Given the description of an element on the screen output the (x, y) to click on. 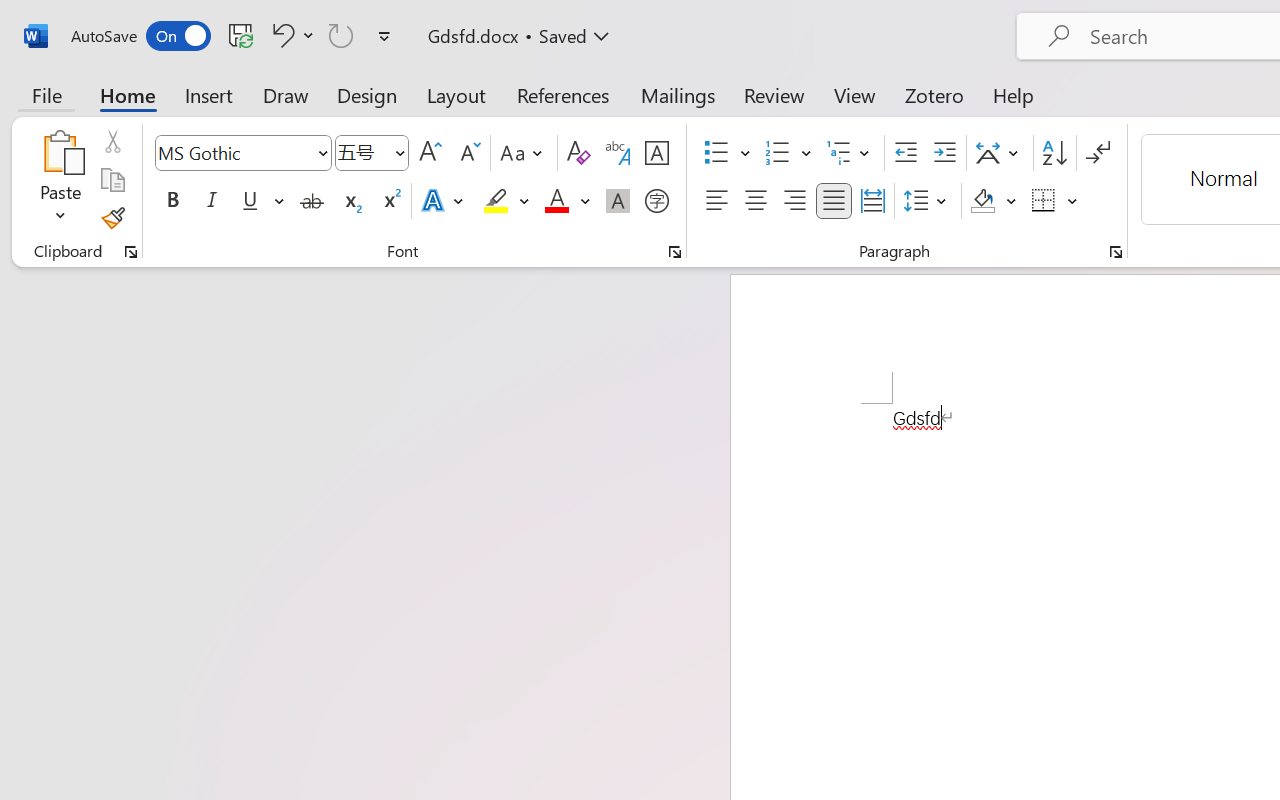
Switch account (227, 261)
Info (69, 308)
Outlook (819, 351)
Excel (769, 351)
About PowerPoint (676, 625)
Manage Settings (237, 335)
Word (744, 351)
Office Background (370, 409)
Add a service (233, 615)
PowerPoint (794, 351)
Print (69, 442)
